Given the description of an element on the screen output the (x, y) to click on. 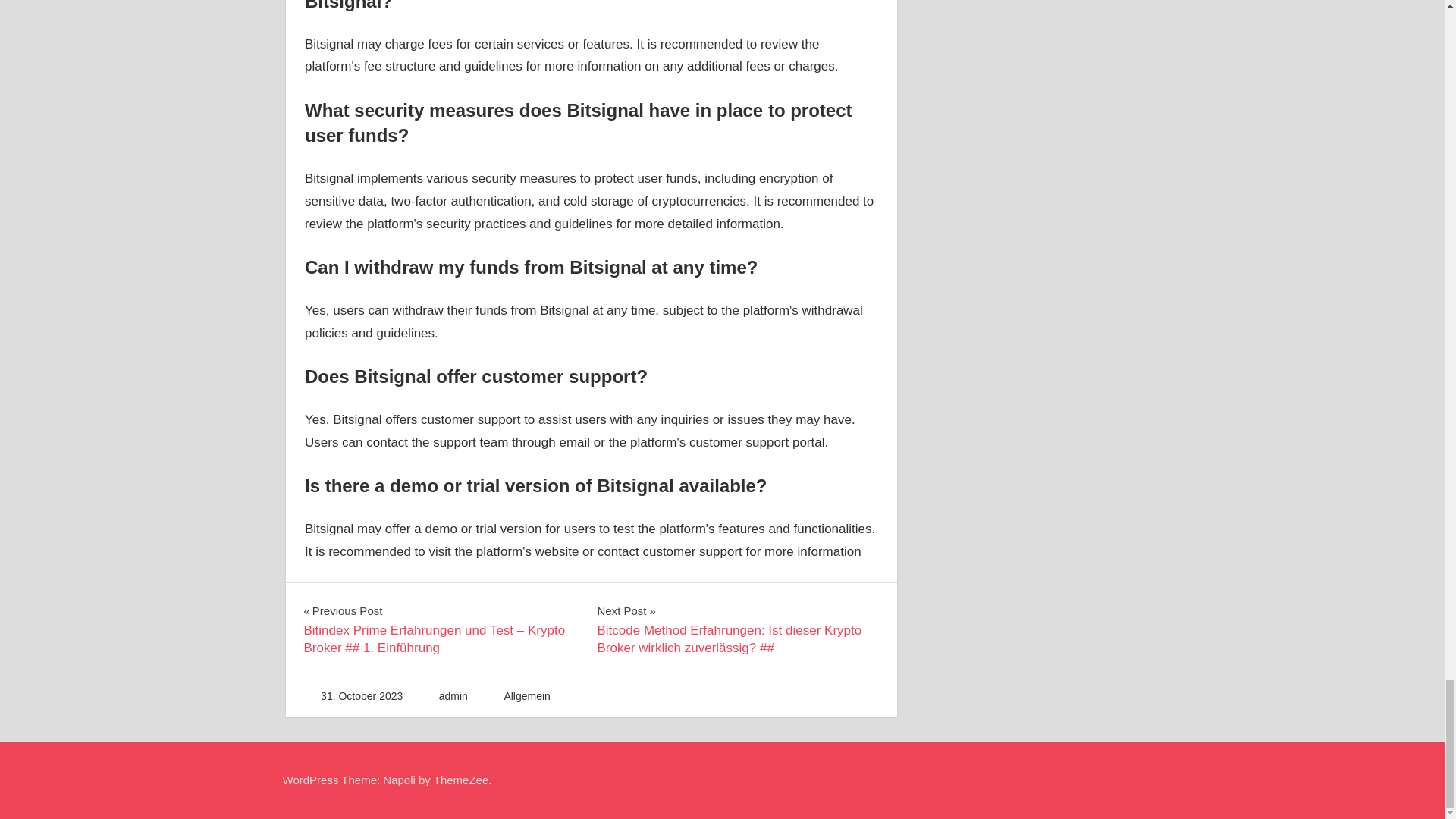
admin (453, 695)
Allgemein (526, 695)
31. October 2023 (361, 695)
22:16 (361, 695)
View all posts by admin (453, 695)
